Given the description of an element on the screen output the (x, y) to click on. 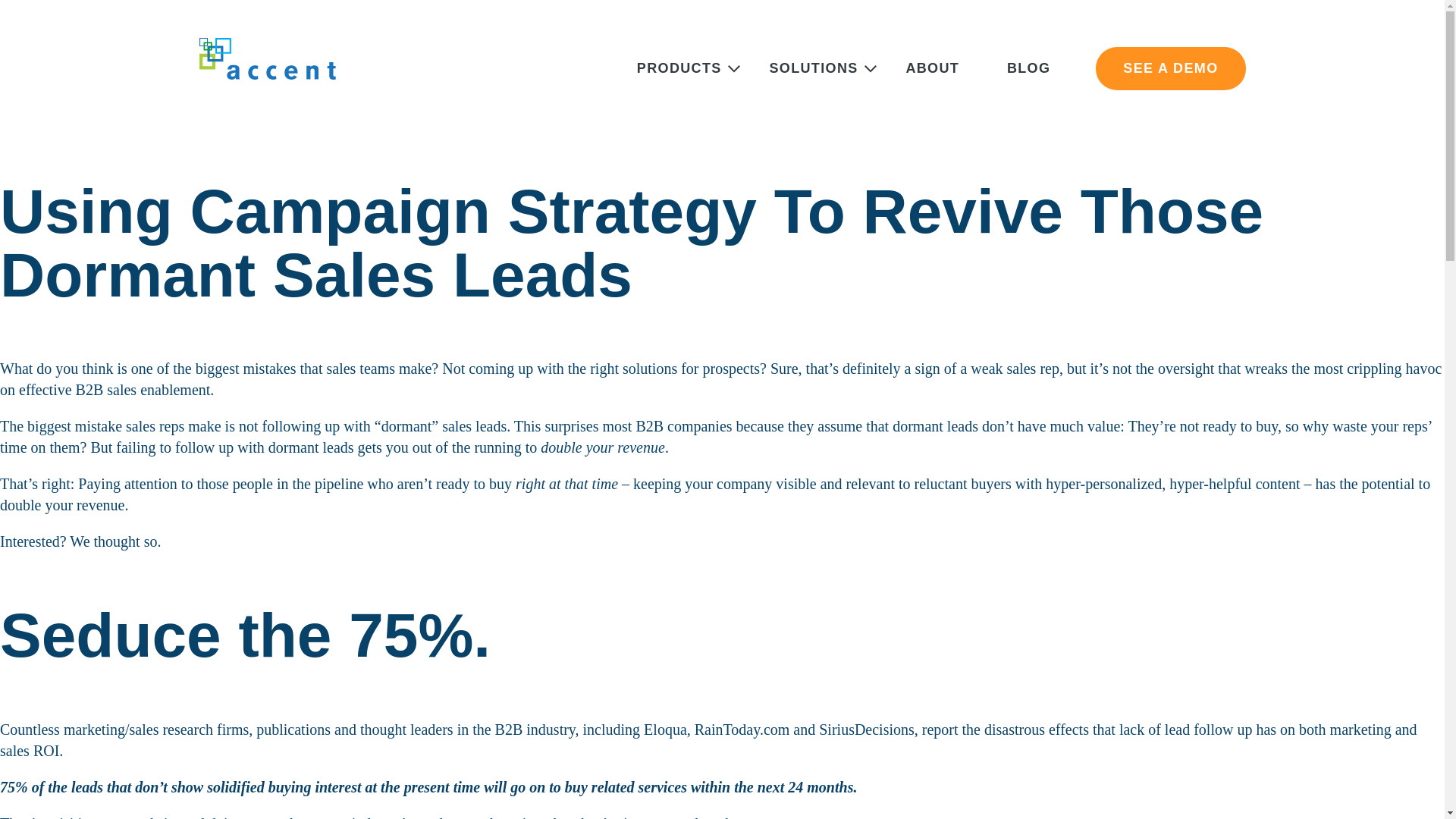
PRODUCTS (679, 68)
SEE A DEMO (1170, 68)
ABOUT (956, 70)
BLOG (1051, 70)
sales enablement (157, 389)
sales enablement (157, 389)
